Given the description of an element on the screen output the (x, y) to click on. 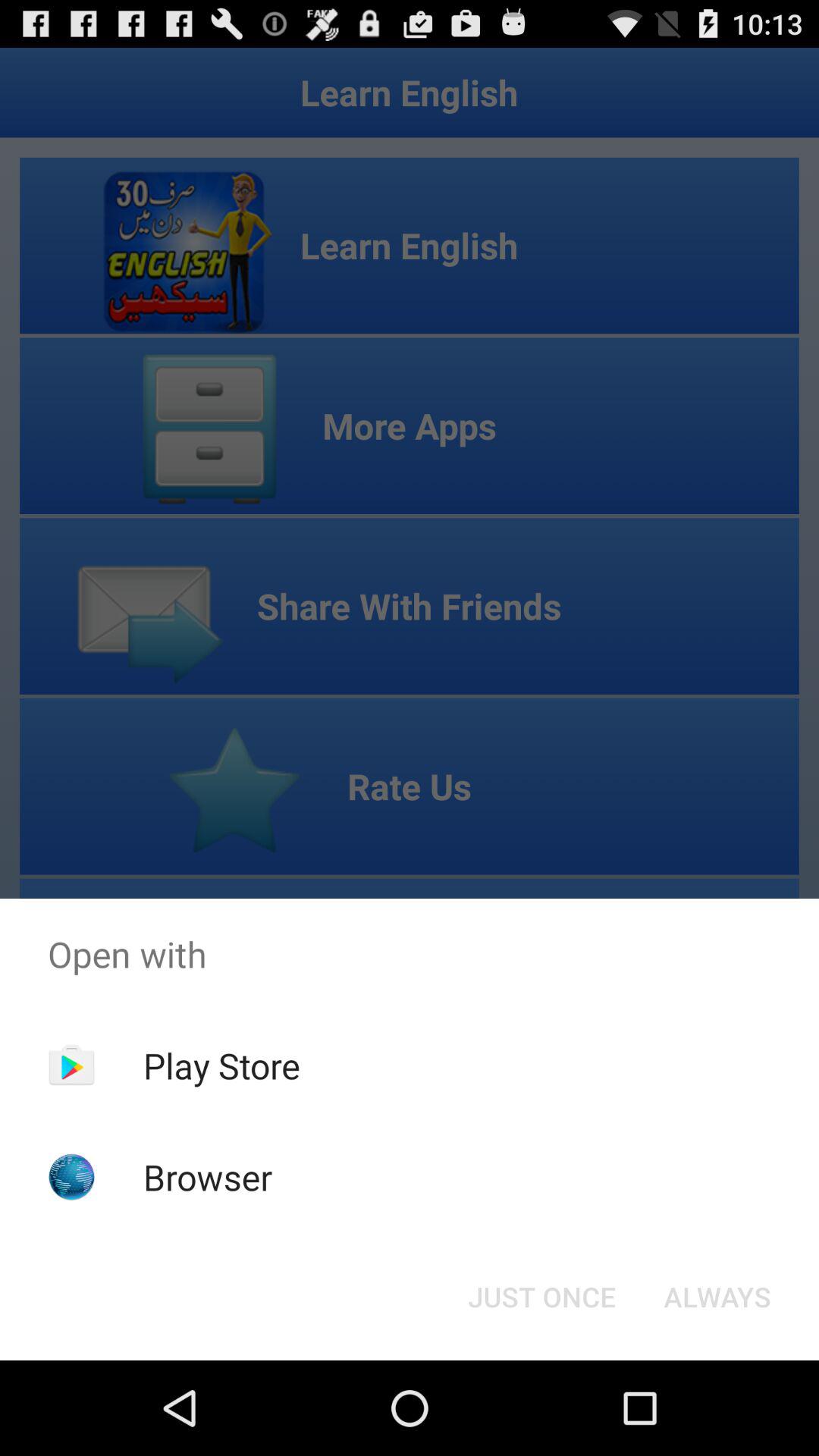
press just once icon (541, 1296)
